Given the description of an element on the screen output the (x, y) to click on. 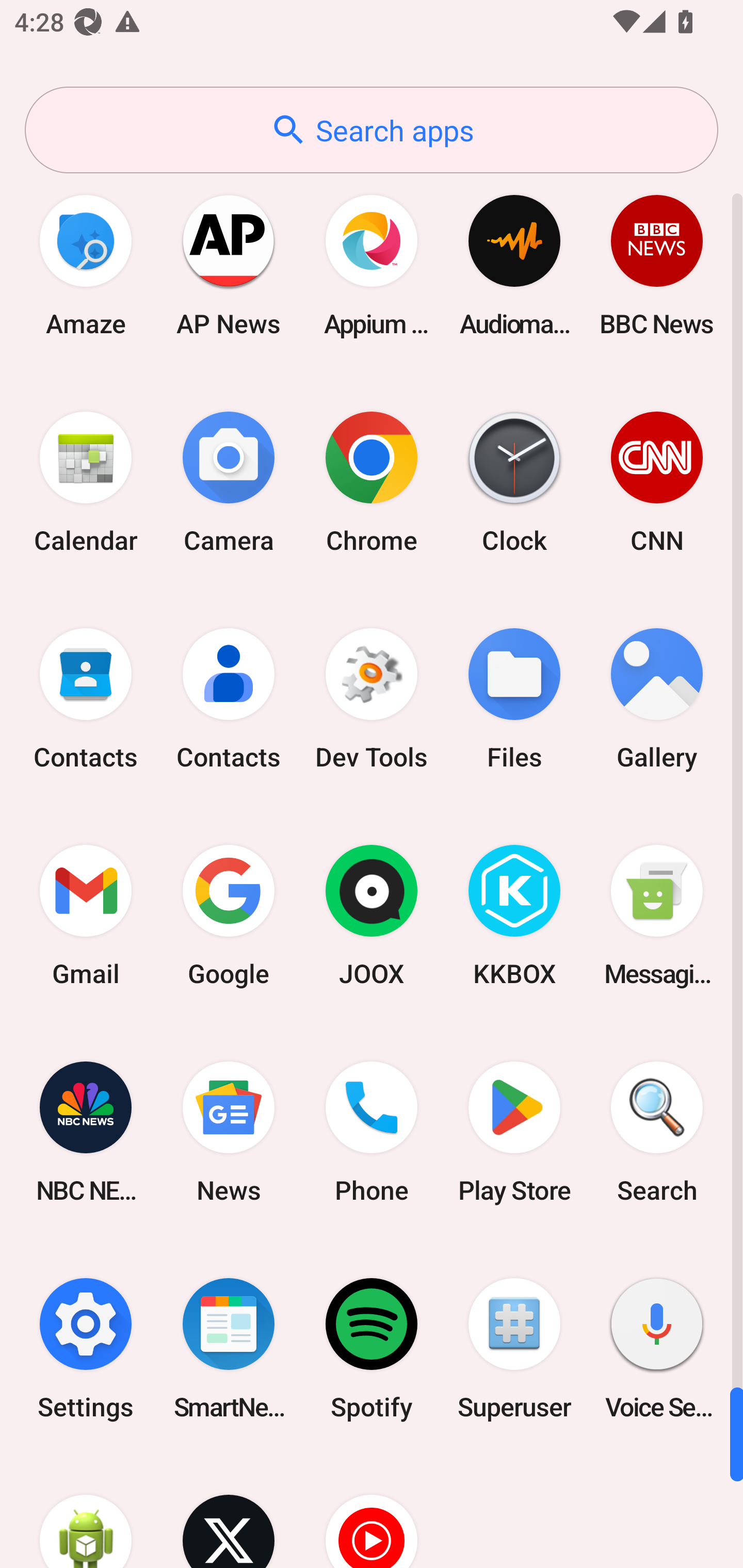
  Search apps (371, 130)
Amaze (85, 264)
AP News (228, 264)
Appium Settings (371, 264)
Audio­mack (514, 264)
BBC News (656, 264)
Calendar (85, 482)
Camera (228, 482)
Chrome (371, 482)
Clock (514, 482)
CNN (656, 482)
Contacts (85, 699)
Contacts (228, 699)
Dev Tools (371, 699)
Files (514, 699)
Gallery (656, 699)
Gmail (85, 915)
Google (228, 915)
JOOX (371, 915)
KKBOX (514, 915)
Messaging (656, 915)
NBC NEWS (85, 1131)
News (228, 1131)
Phone (371, 1131)
Play Store (514, 1131)
Search (656, 1131)
Settings (85, 1348)
SmartNews (228, 1348)
Spotify (371, 1348)
Superuser (514, 1348)
Voice Search (656, 1348)
WebView Browser Tester (85, 1512)
X (228, 1512)
YT Music (371, 1512)
